Given the description of an element on the screen output the (x, y) to click on. 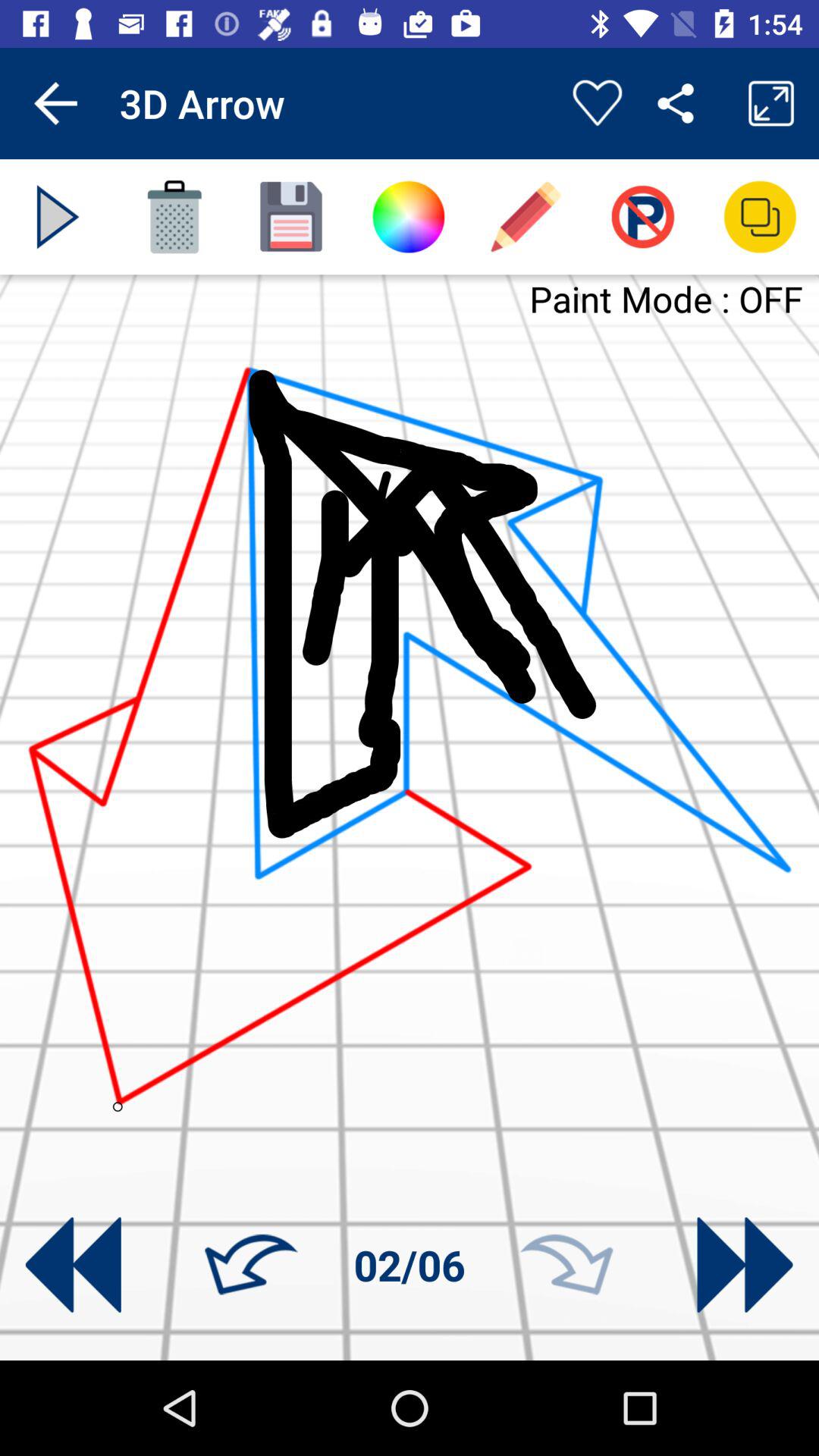
turn off the icon to the right of the 02/06 icon (566, 1264)
